Given the description of an element on the screen output the (x, y) to click on. 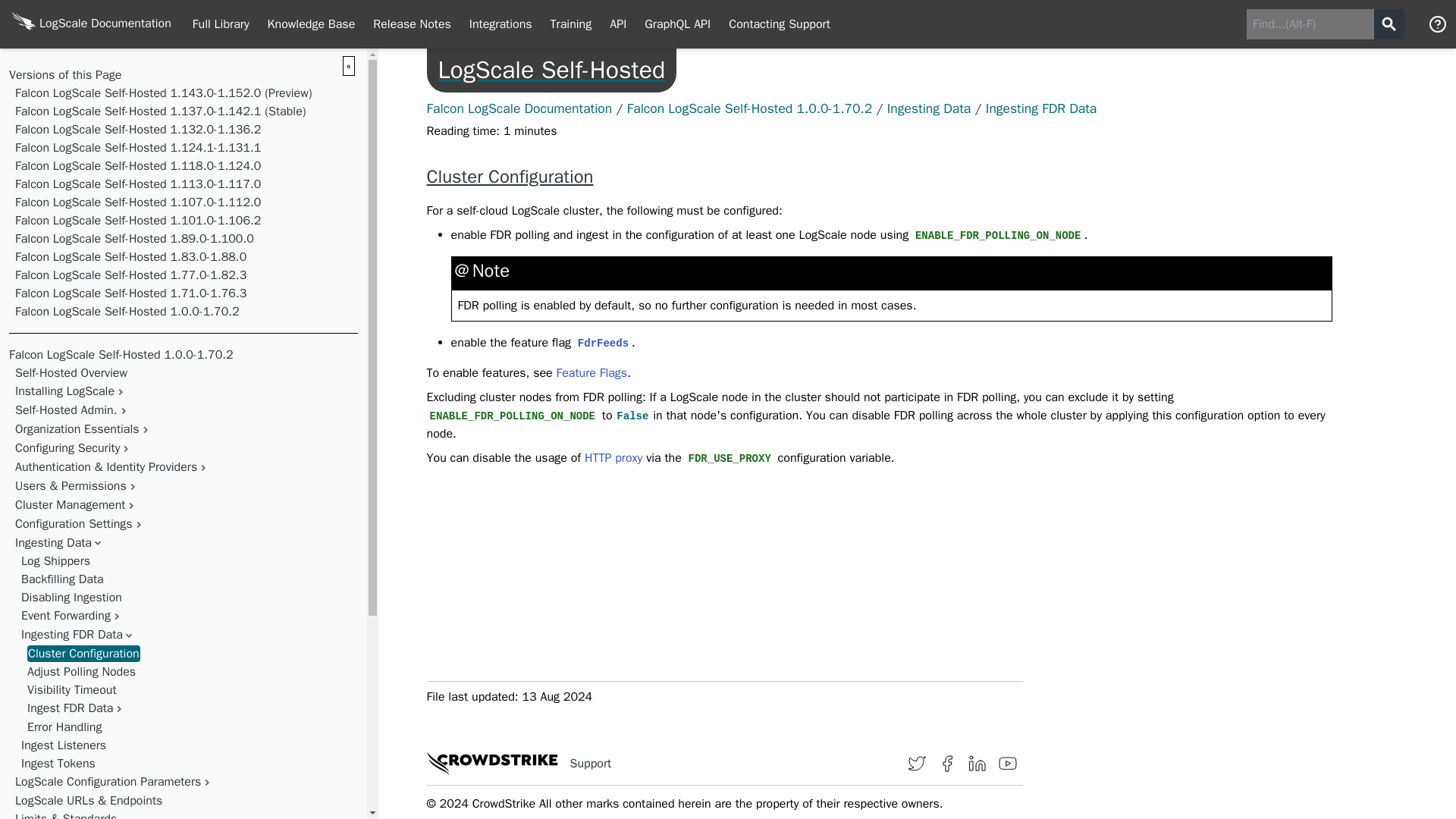
GraphQL API (676, 24)
Falcon LogScale Self-Hosted 1.83.0-1.88.0 (130, 256)
Release Notes (412, 24)
Falcon LogScale Self-Hosted 1.113.0-1.117.0 (137, 183)
Self-Hosted Overview (71, 372)
Full Library (221, 24)
API (616, 24)
Falcon LogScale Self-Hosted 1.118.0-1.124.0 (137, 165)
Knowledge Base (312, 24)
Falcon LogScale Self-Hosted 1.89.0-1.100.0 (133, 238)
